Given the description of an element on the screen output the (x, y) to click on. 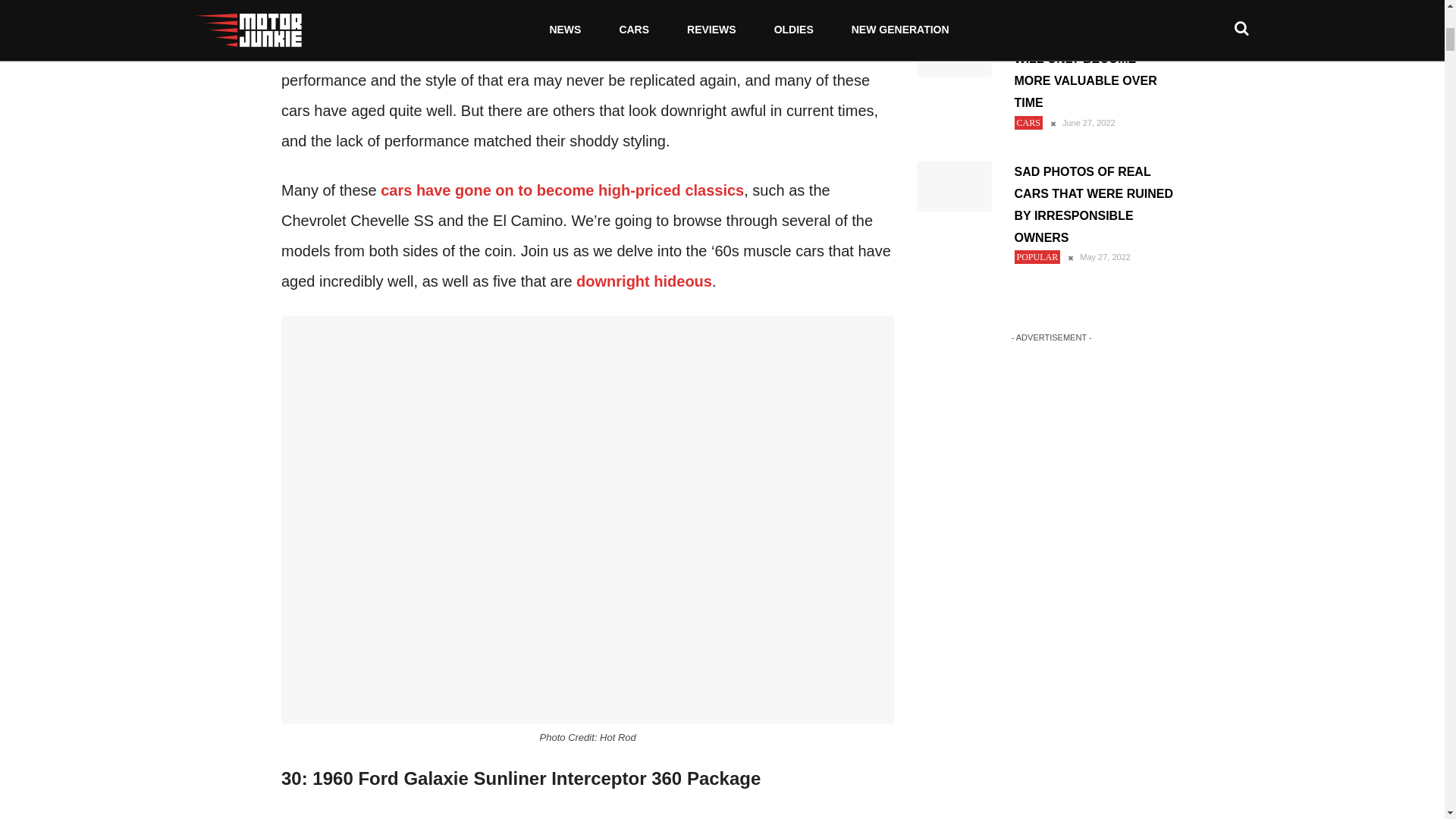
downright hideous (643, 280)
cars have gone on to become high-priced classics (562, 190)
